Given the description of an element on the screen output the (x, y) to click on. 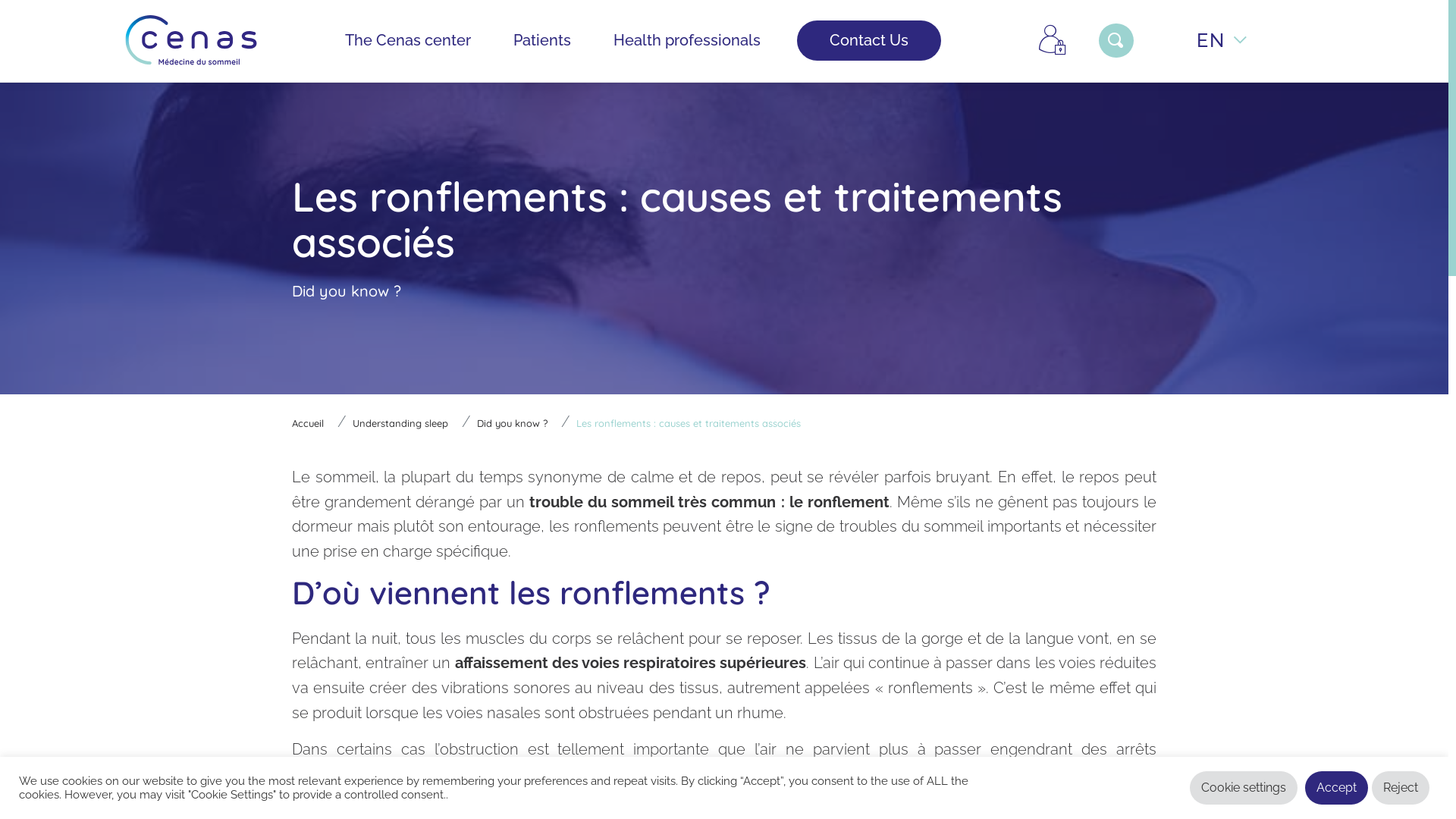
Health professionals Element type: text (686, 39)
Understanding sleep Element type: text (400, 423)
Accueil Element type: text (307, 423)
Did you know ? Element type: text (511, 423)
Accept Element type: text (1336, 787)
Contact Us Element type: text (869, 39)
Reject Element type: text (1400, 787)
The Cenas center Element type: text (407, 39)
Patients Element type: text (542, 39)
Cookie settings Element type: text (1243, 787)
EN Element type: text (1221, 39)
